Given the description of an element on the screen output the (x, y) to click on. 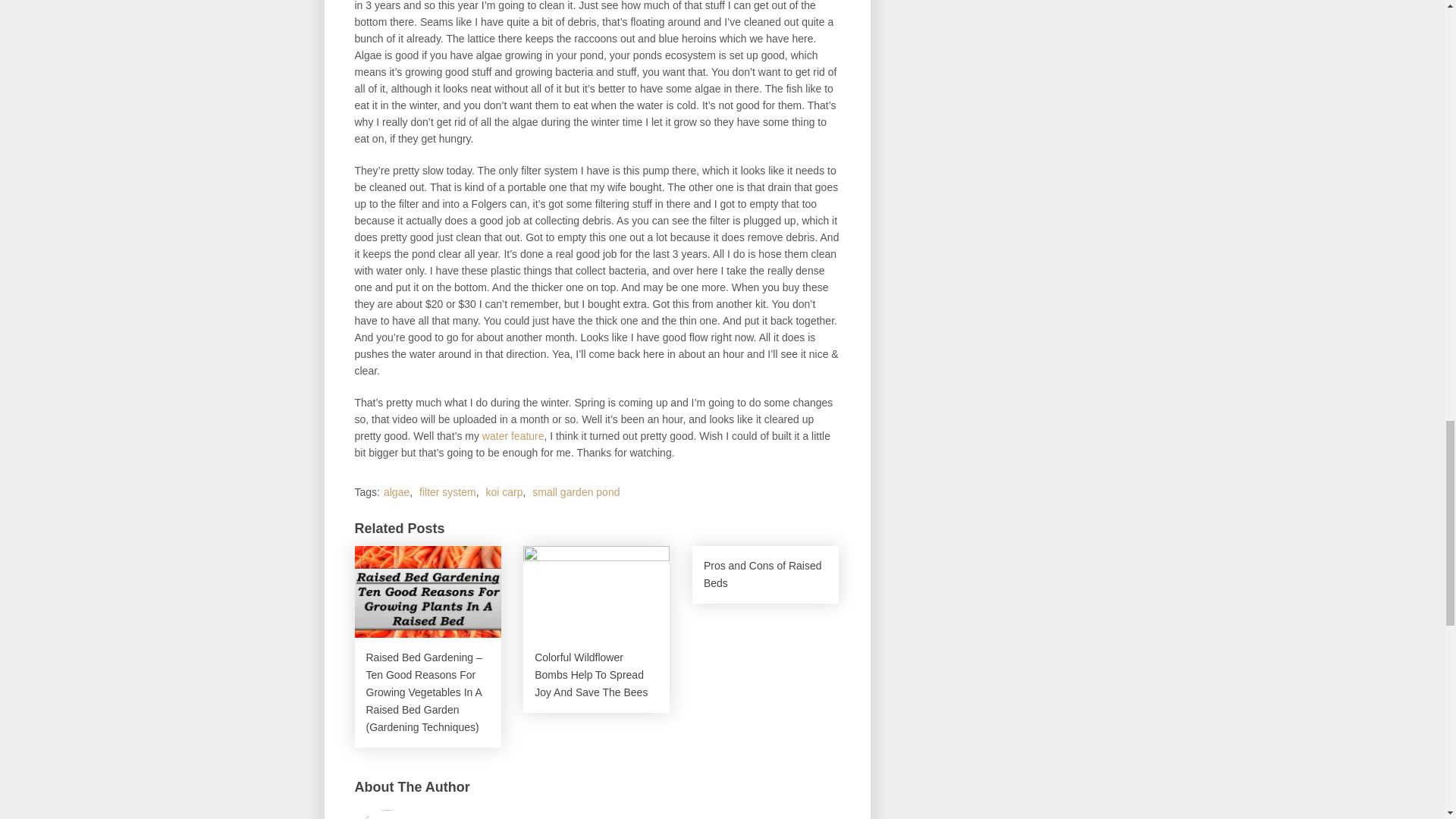
algae (396, 491)
small garden pond (576, 491)
koi carp (503, 491)
Pros and Cons of Raised Beds (765, 574)
filter system (447, 491)
water feature (512, 435)
